Given the description of an element on the screen output the (x, y) to click on. 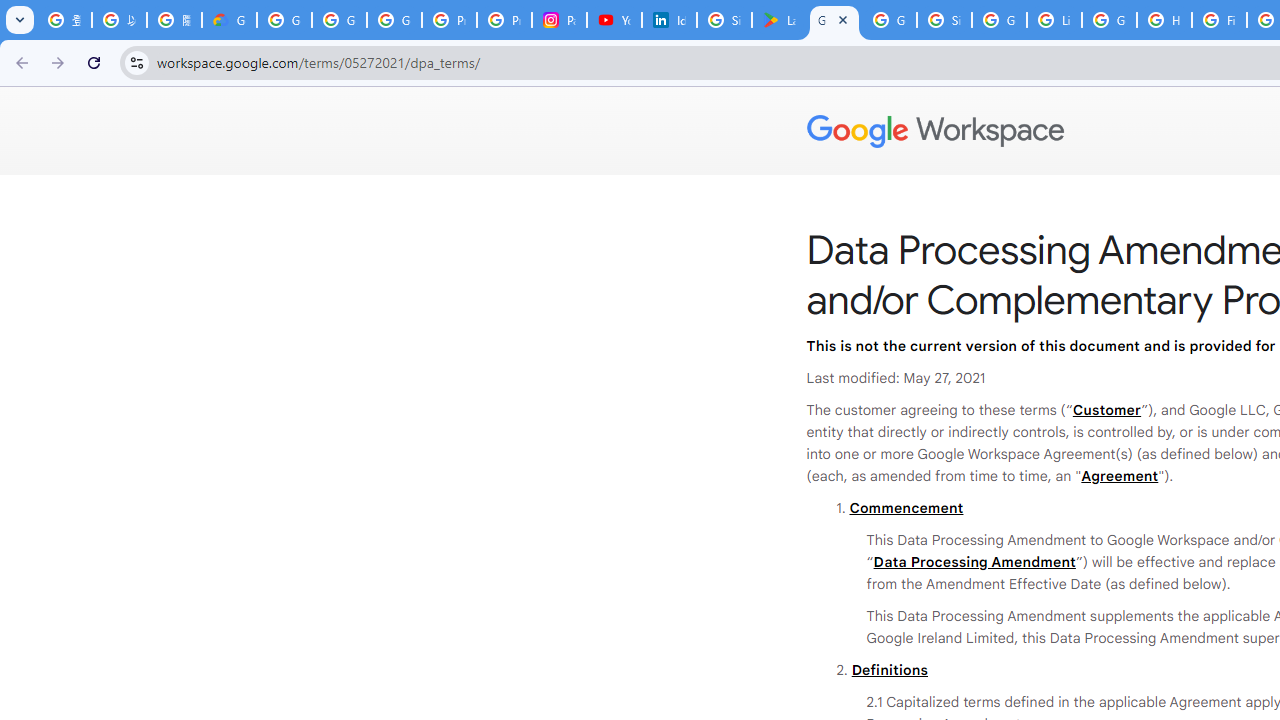
Google Workspace - Specific Terms (888, 20)
Sign in - Google Accounts (943, 20)
Sign in - Google Accounts (724, 20)
